Given the description of an element on the screen output the (x, y) to click on. 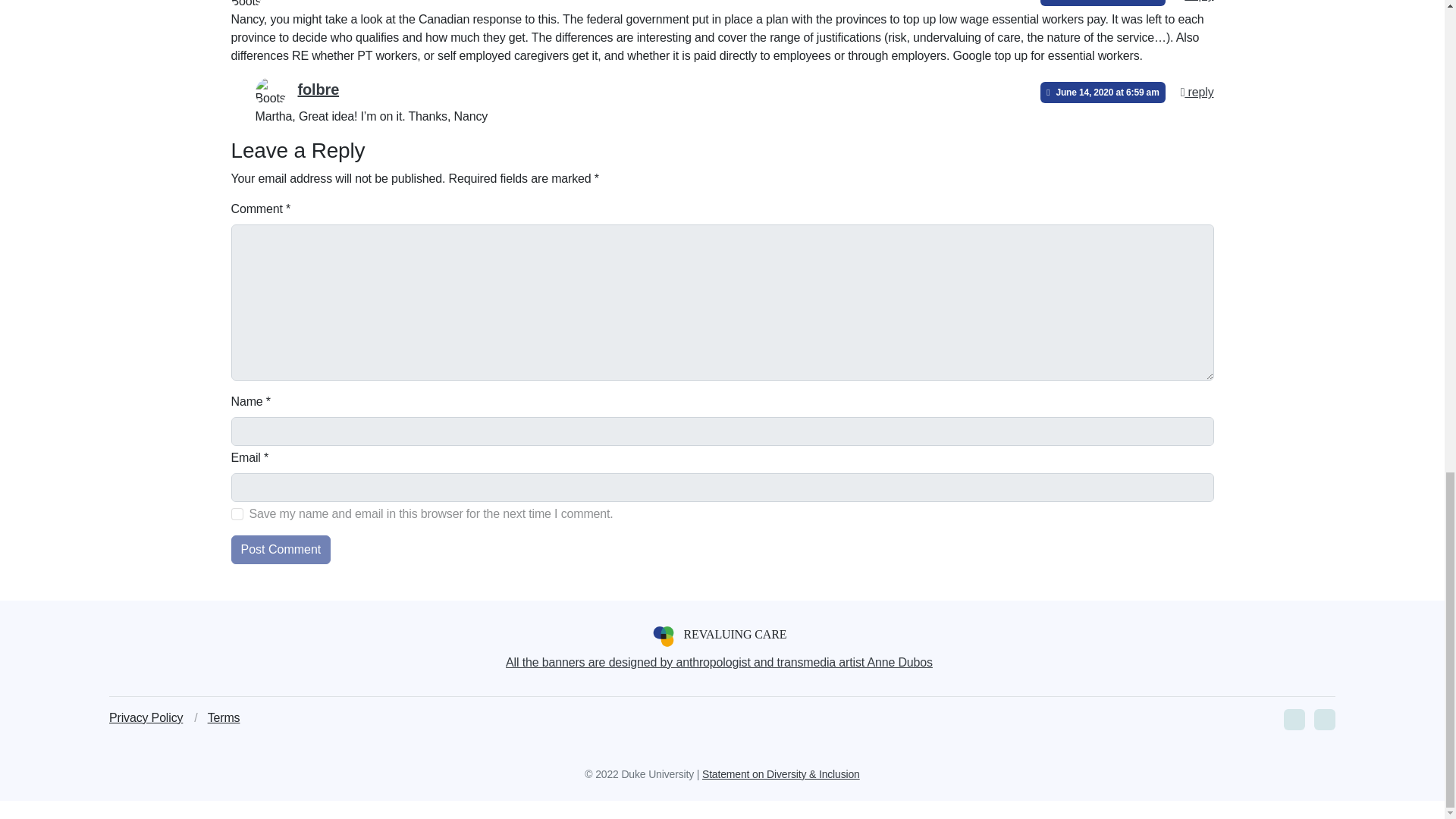
yes (236, 513)
